Given the description of an element on the screen output the (x, y) to click on. 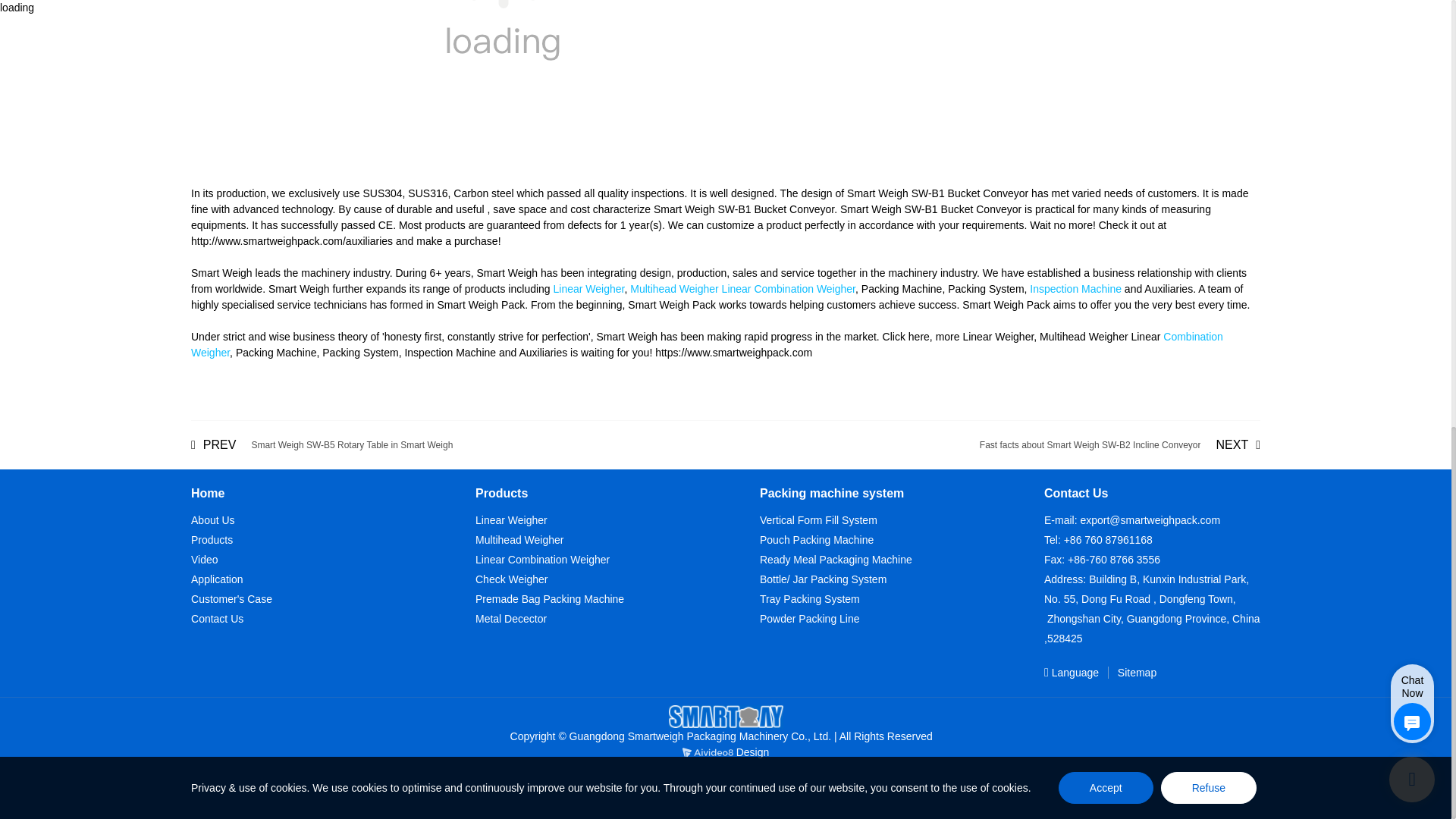
Inspection Machine (1075, 288)
Combination Weigher (706, 344)
Linear Combination Weigher (789, 288)
Linear Weigher (588, 288)
Fast facts about Smart Weigh SW-B2 Incline Conveyor (1119, 444)
Smart Weigh SW-B5 Rotary Table in Smart Weigh (321, 444)
Multihead Weigher (673, 288)
